Given the description of an element on the screen output the (x, y) to click on. 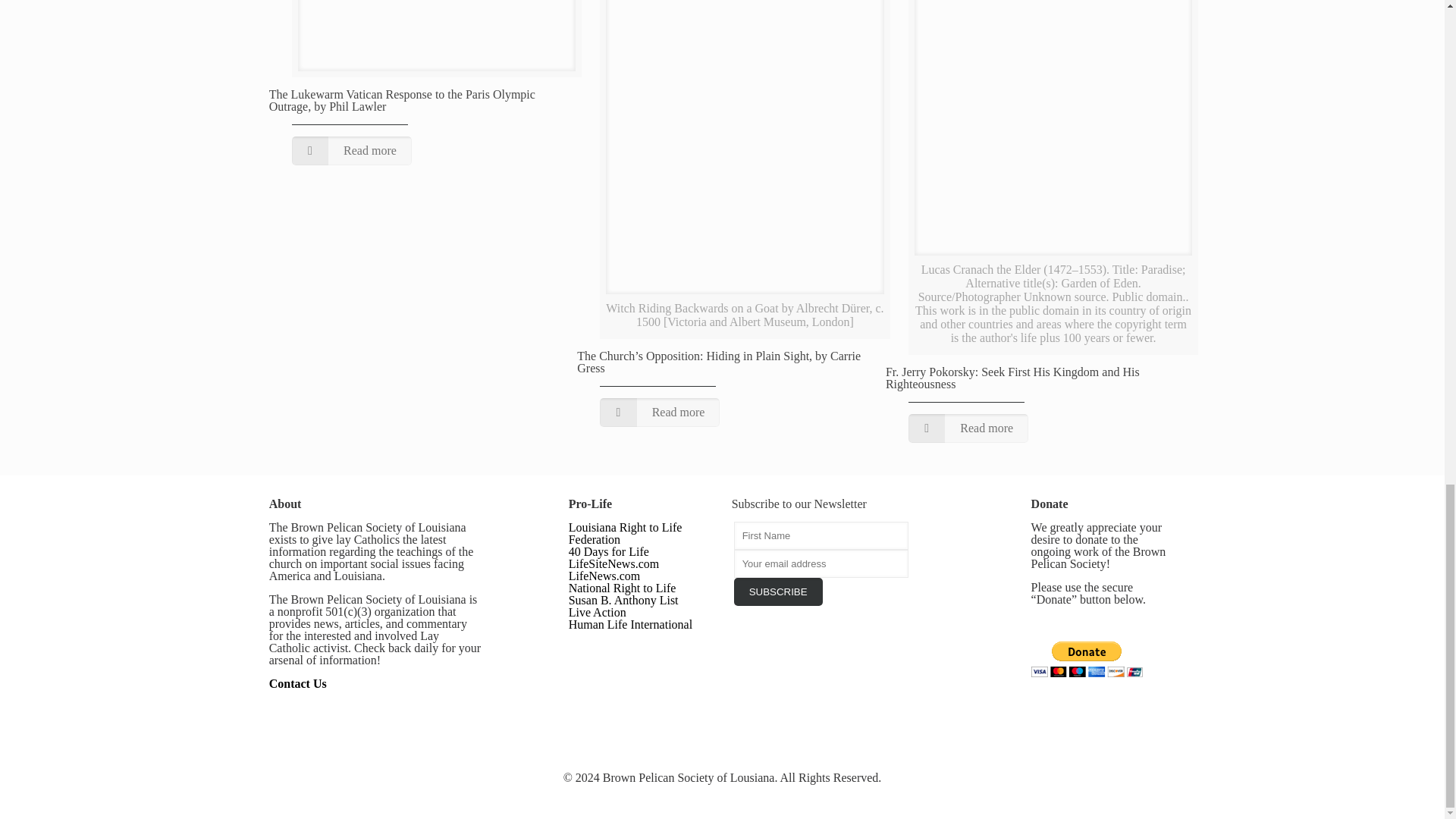
Read more (659, 412)
LinkedIn (743, 797)
SUBSCRIBE (777, 592)
Read more (352, 150)
Twitter (722, 797)
Facebook (702, 797)
